Given the description of an element on the screen output the (x, y) to click on. 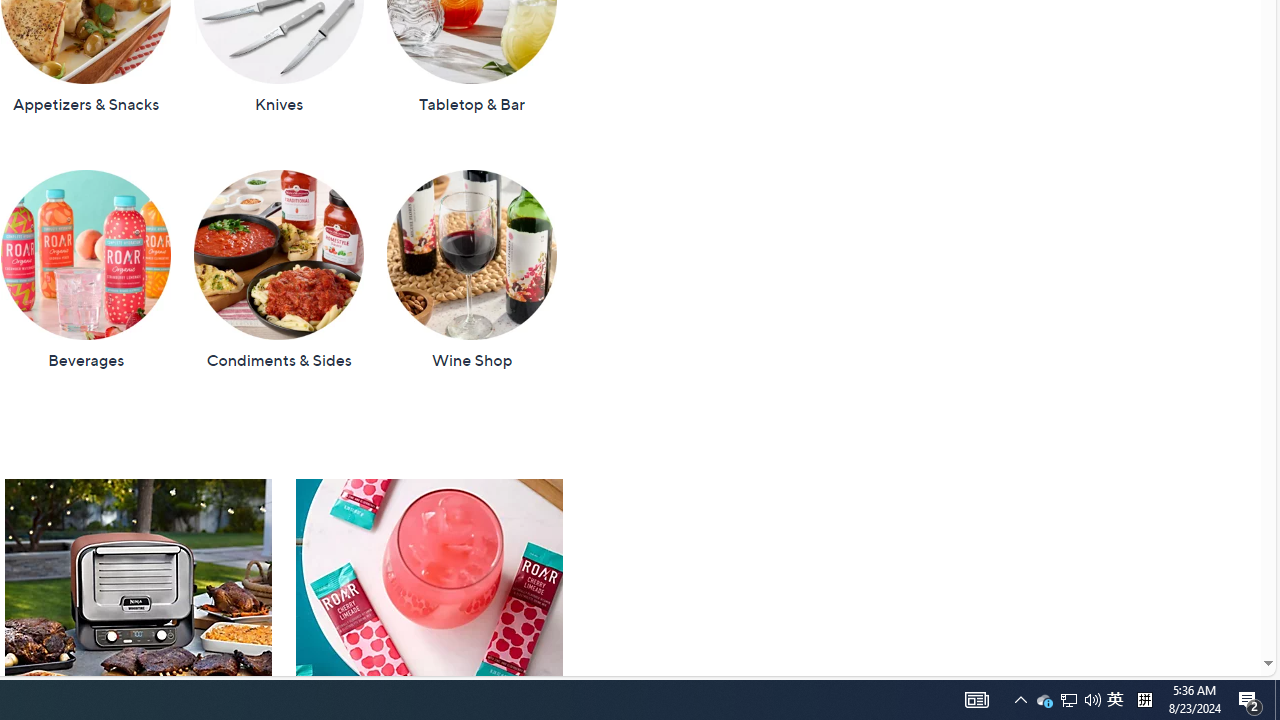
Beverages (86, 270)
Condiments & Sides (278, 270)
Wine Shop (471, 270)
